Given the description of an element on the screen output the (x, y) to click on. 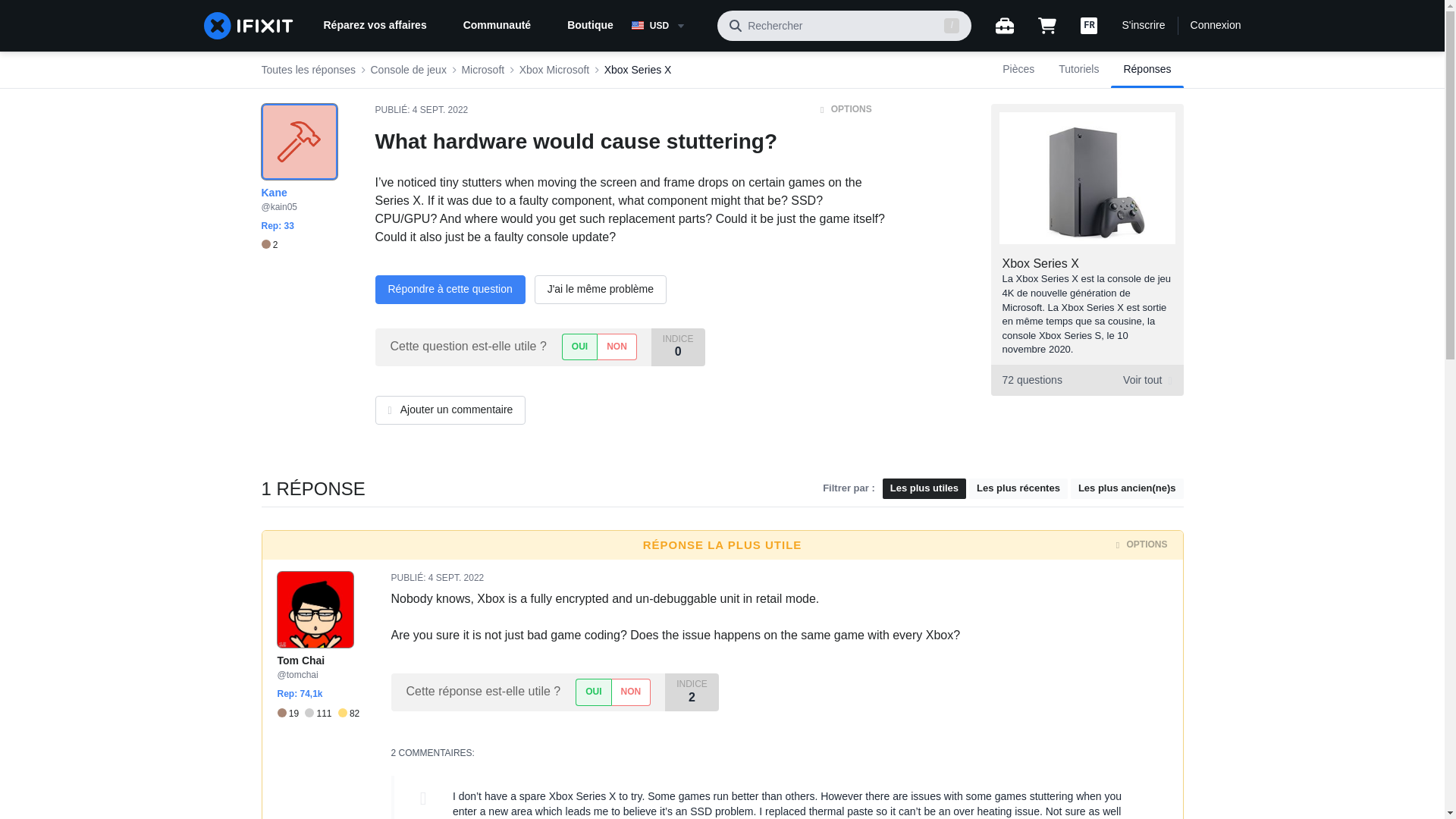
Tutoriels (1086, 379)
Console de jeux (1078, 69)
S'inscrire (407, 69)
Microsoft (1142, 25)
Xbox Microsoft (482, 69)
USD (554, 69)
82 badges Or (667, 25)
Sun, 04 Sep 2022 08:41:32 -0700 (348, 712)
Sun, 04 Sep 2022 03:05:53 -0700 (455, 577)
Xbox Series X (439, 109)
Xbox Series X (1040, 263)
19 badges Bronze (637, 69)
Connexion (291, 712)
2 badges Bronze (1216, 25)
